Given the description of an element on the screen output the (x, y) to click on. 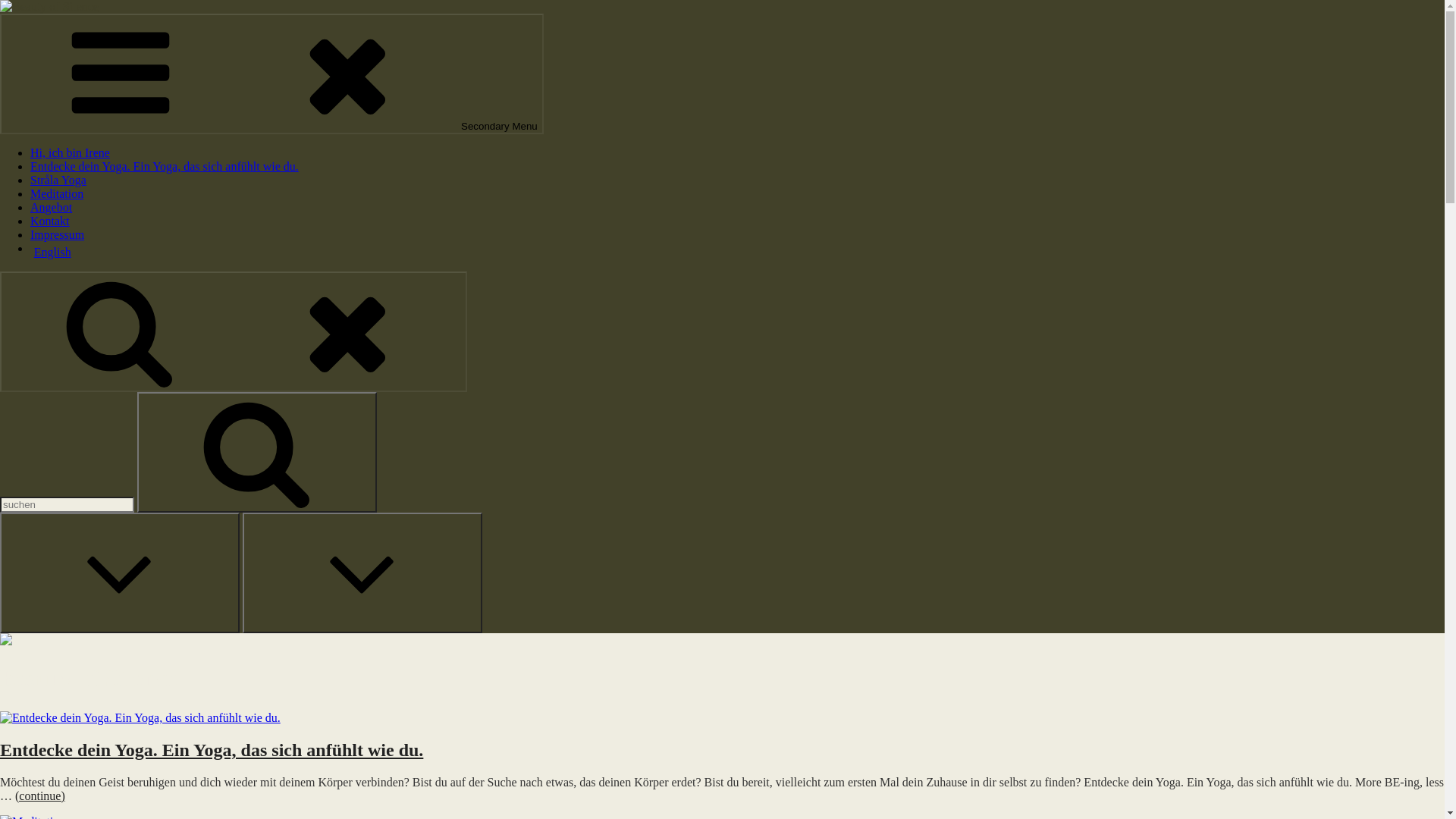
Next Section Element type: text (362, 572)
Search Element type: text (256, 452)
Impressum Element type: text (57, 234)
Search Element type: text (233, 331)
Previous Section Element type: text (119, 572)
Meditation Element type: text (56, 193)
Angebot Element type: text (51, 206)
Beauty of Silence Element type: text (43, 31)
Kontakt Element type: text (49, 220)
Hi, ich bin Irene Element type: text (69, 152)
English Element type: text (737, 252)
Secondary Menu Element type: text (271, 73)
